Given the description of an element on the screen output the (x, y) to click on. 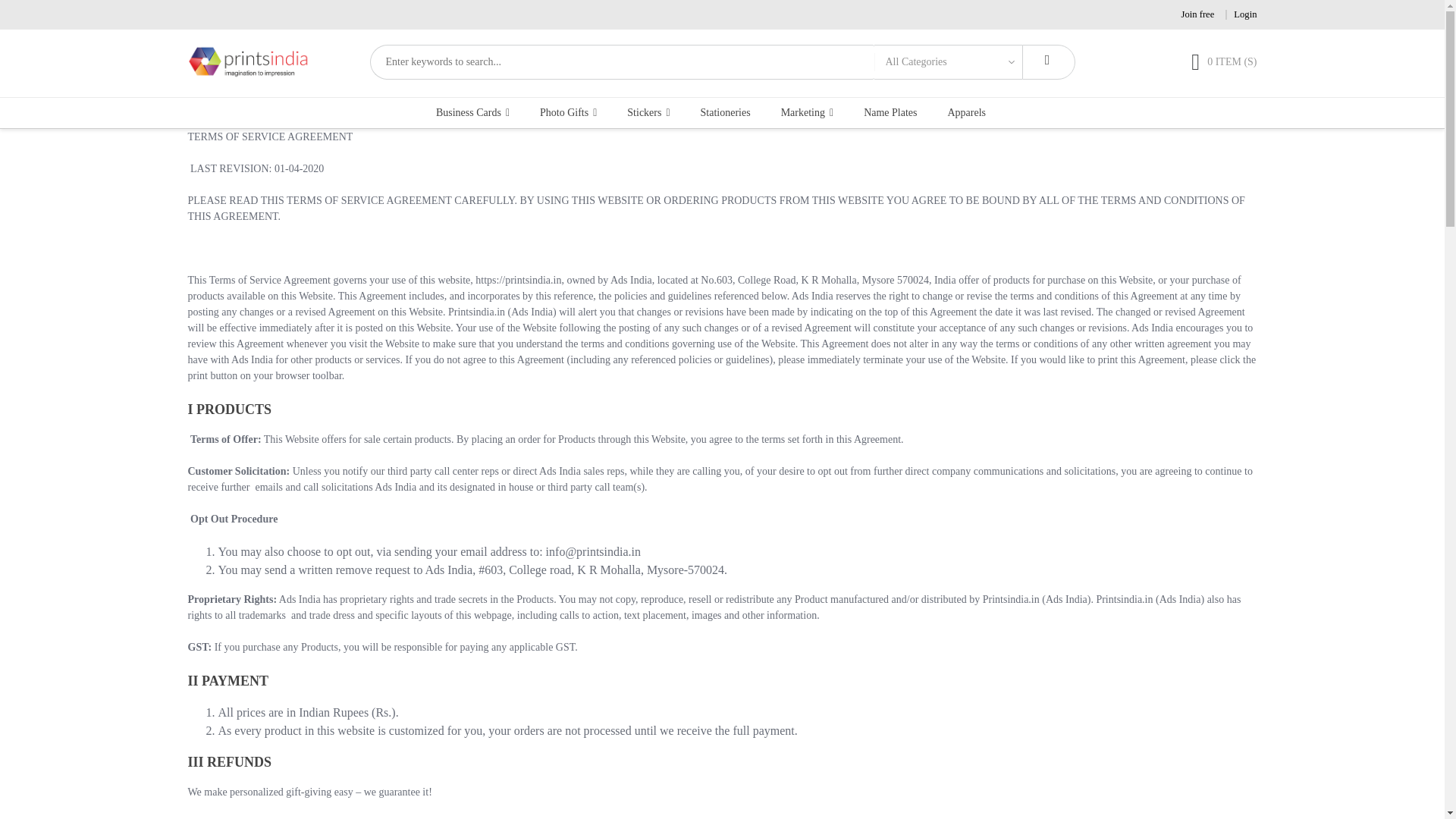
Search (1048, 62)
Photo Gifts (568, 112)
Login (1244, 14)
Join free (1197, 14)
Business Cards (475, 112)
Stickers (648, 112)
